Given the description of an element on the screen output the (x, y) to click on. 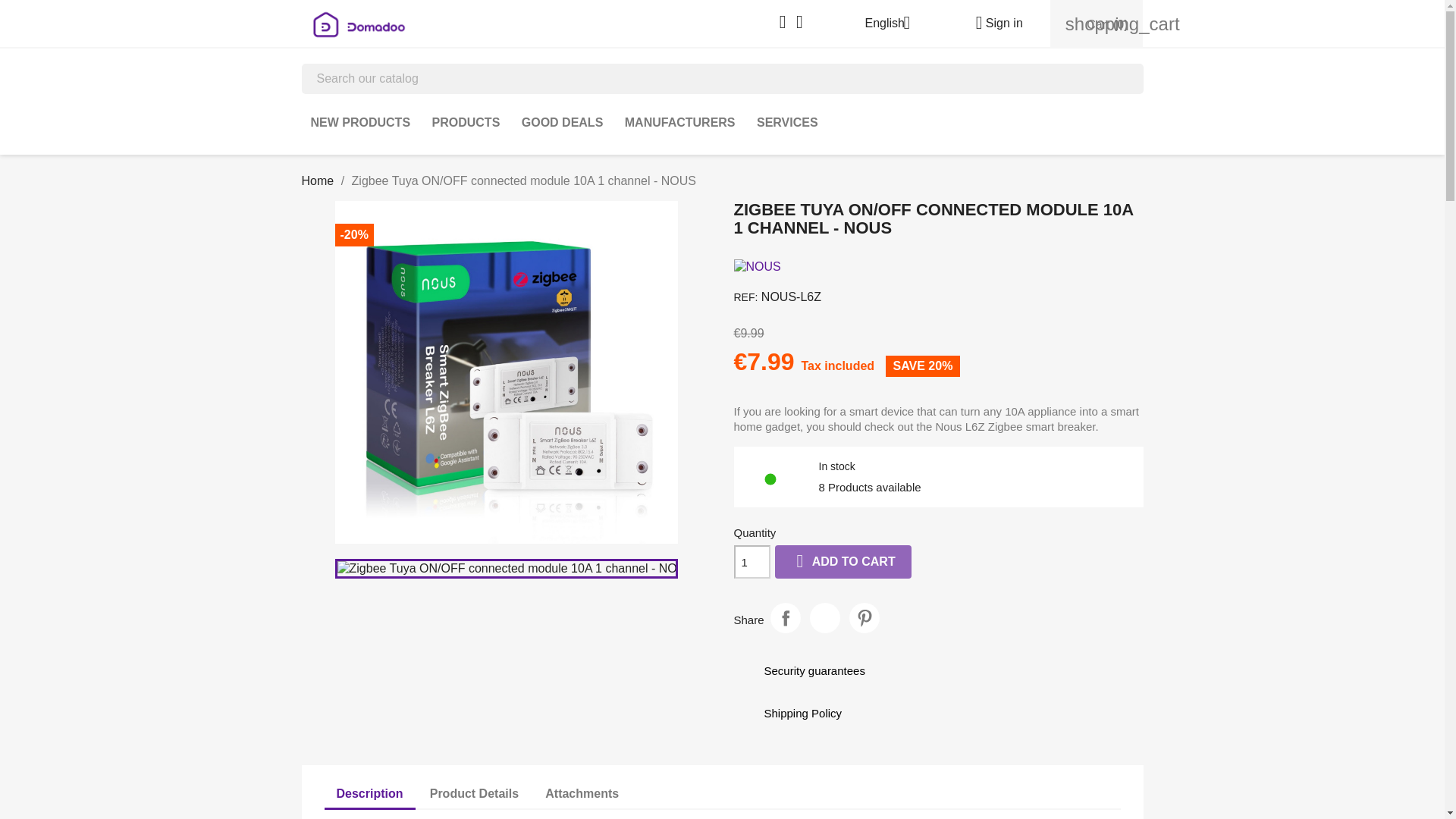
NEW PRODUCTS (360, 122)
Tweet (824, 617)
PRODUCTS (466, 122)
1 (751, 561)
Pinterest (863, 617)
Share (785, 617)
Log in to your customer account (992, 22)
